Given the description of an element on the screen output the (x, y) to click on. 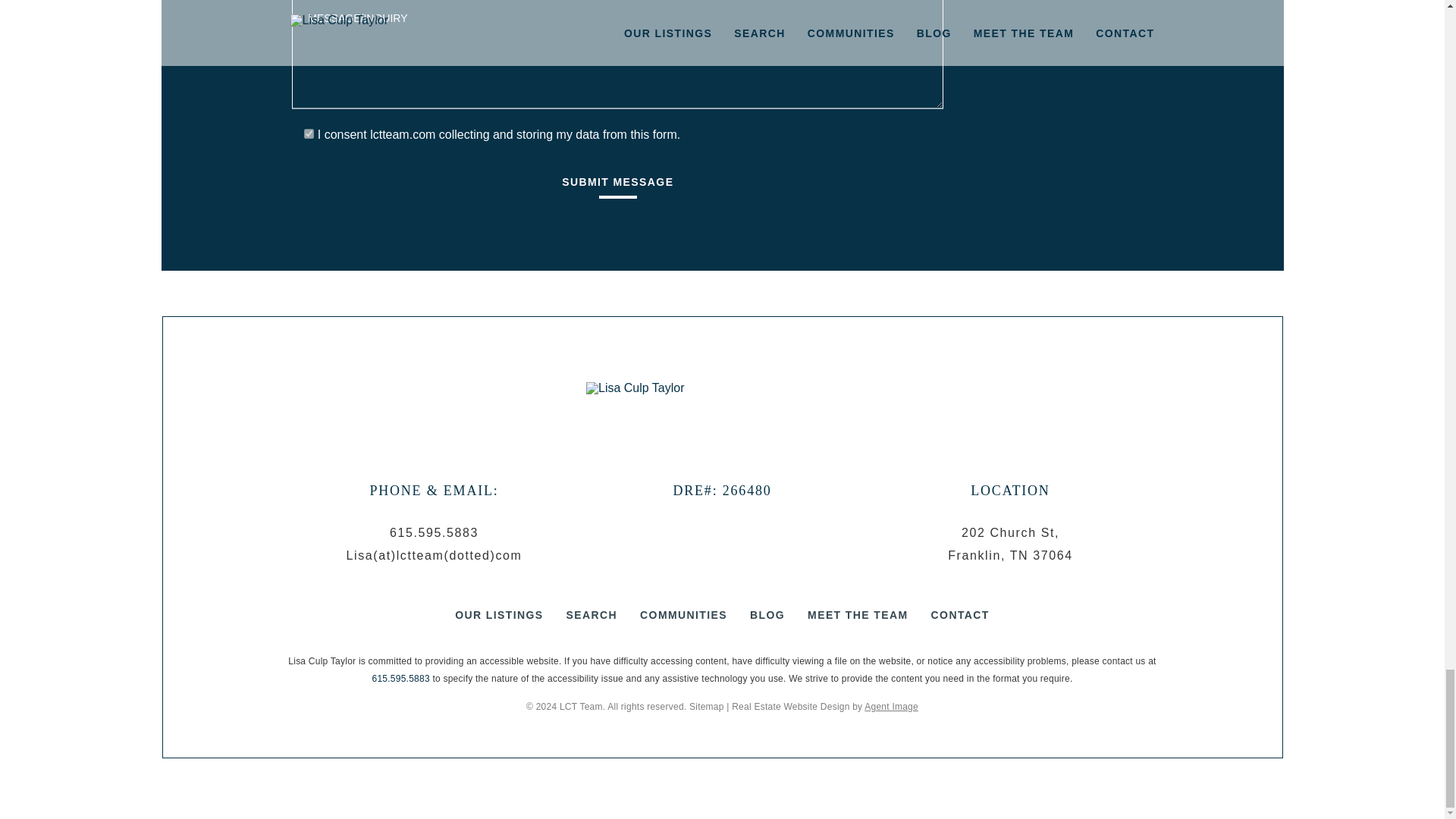
SUBMIT MESSAGE (617, 187)
1 (309, 133)
lctteam.com (402, 133)
